Given the description of an element on the screen output the (x, y) to click on. 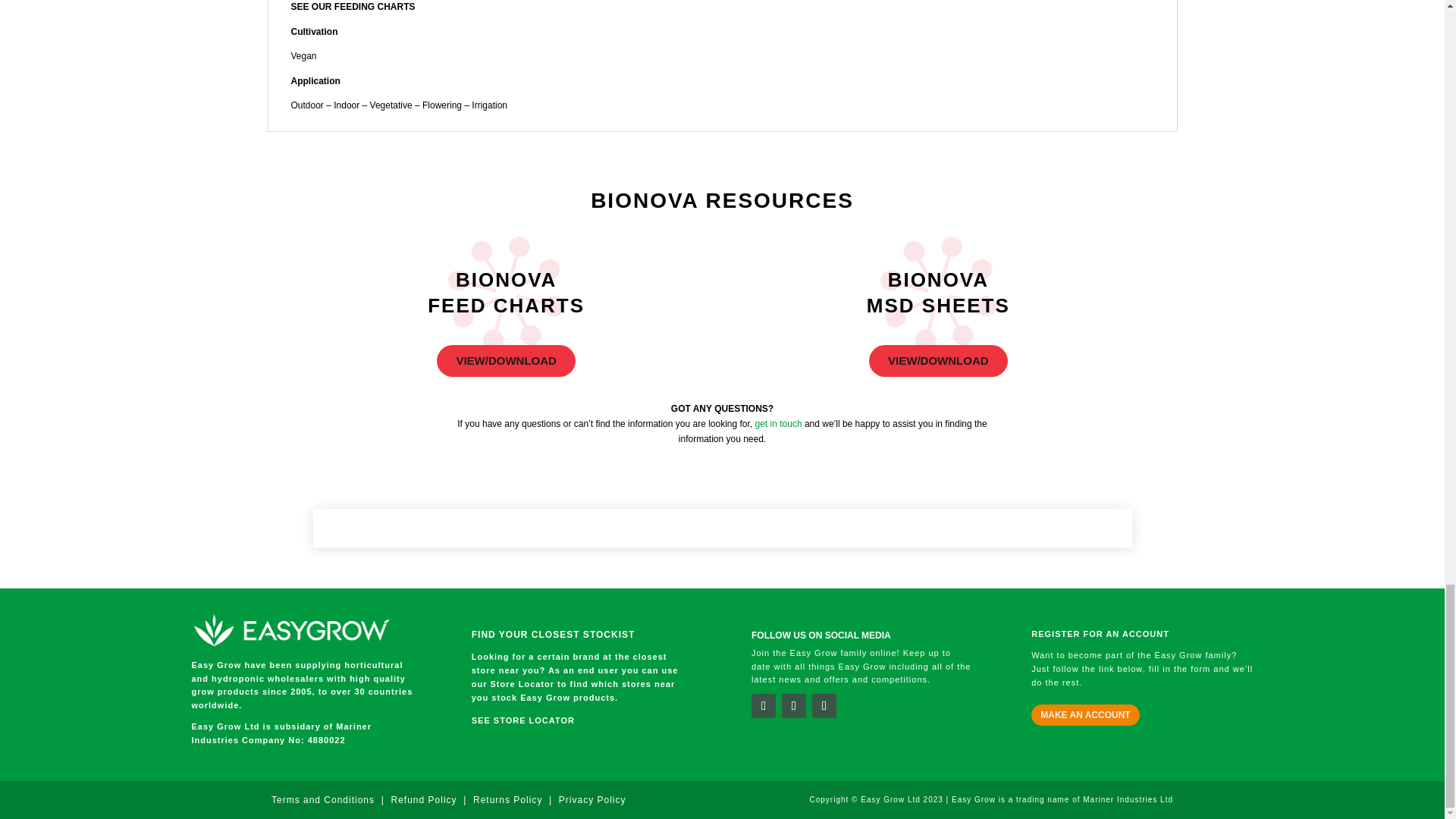
Follow on Facebook (763, 705)
Follow on X (793, 705)
Refund Policy (423, 799)
Returns Policy (509, 799)
Follow on Instagram (823, 705)
Terms and Conditions (322, 799)
Easy-Grow-Desktop-Navigation-Logo-White 330 (290, 629)
Privacy Policy (592, 799)
